Given the description of an element on the screen output the (x, y) to click on. 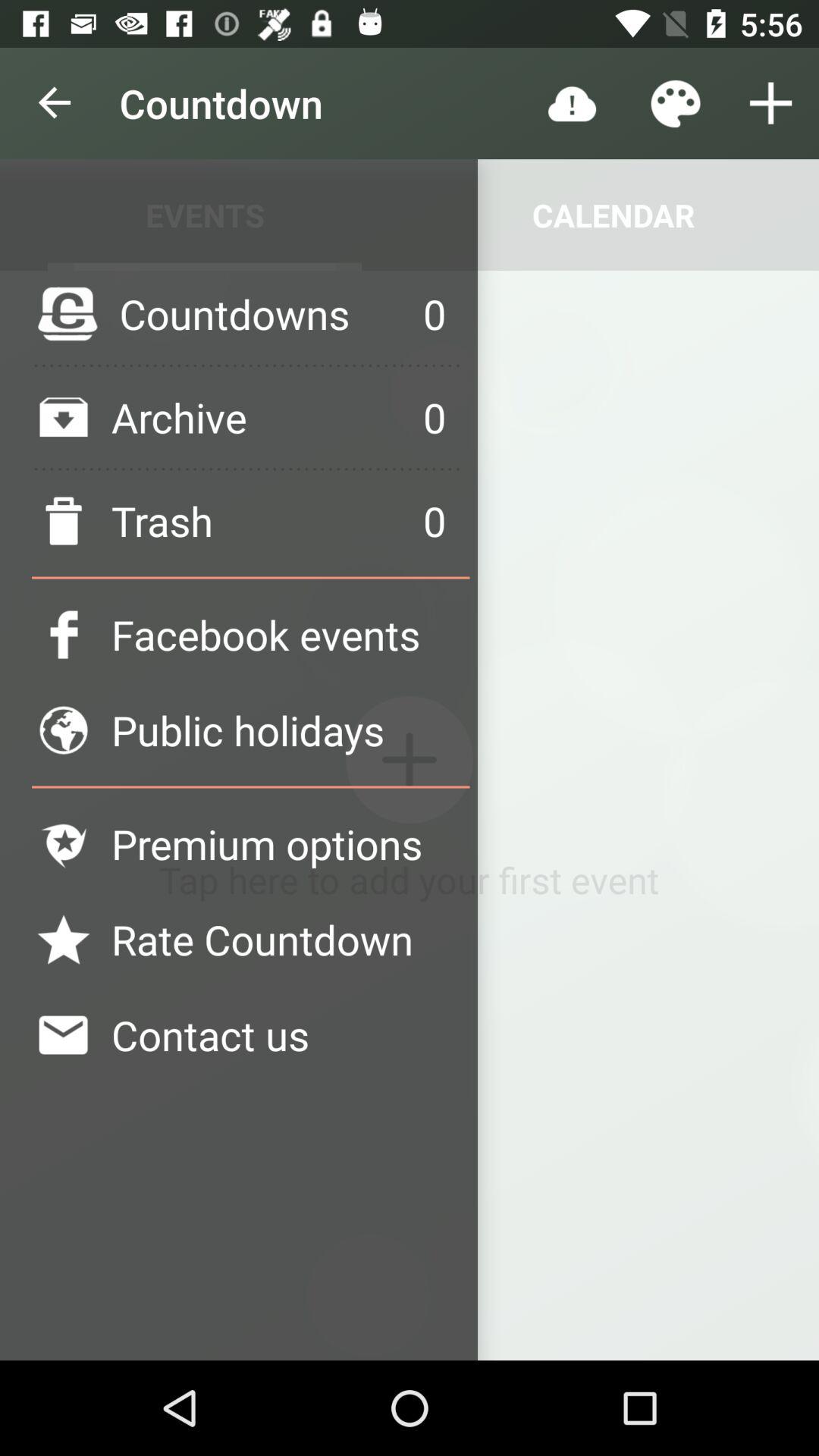
choose the logo left side of public holidays (63, 729)
